Given the description of an element on the screen output the (x, y) to click on. 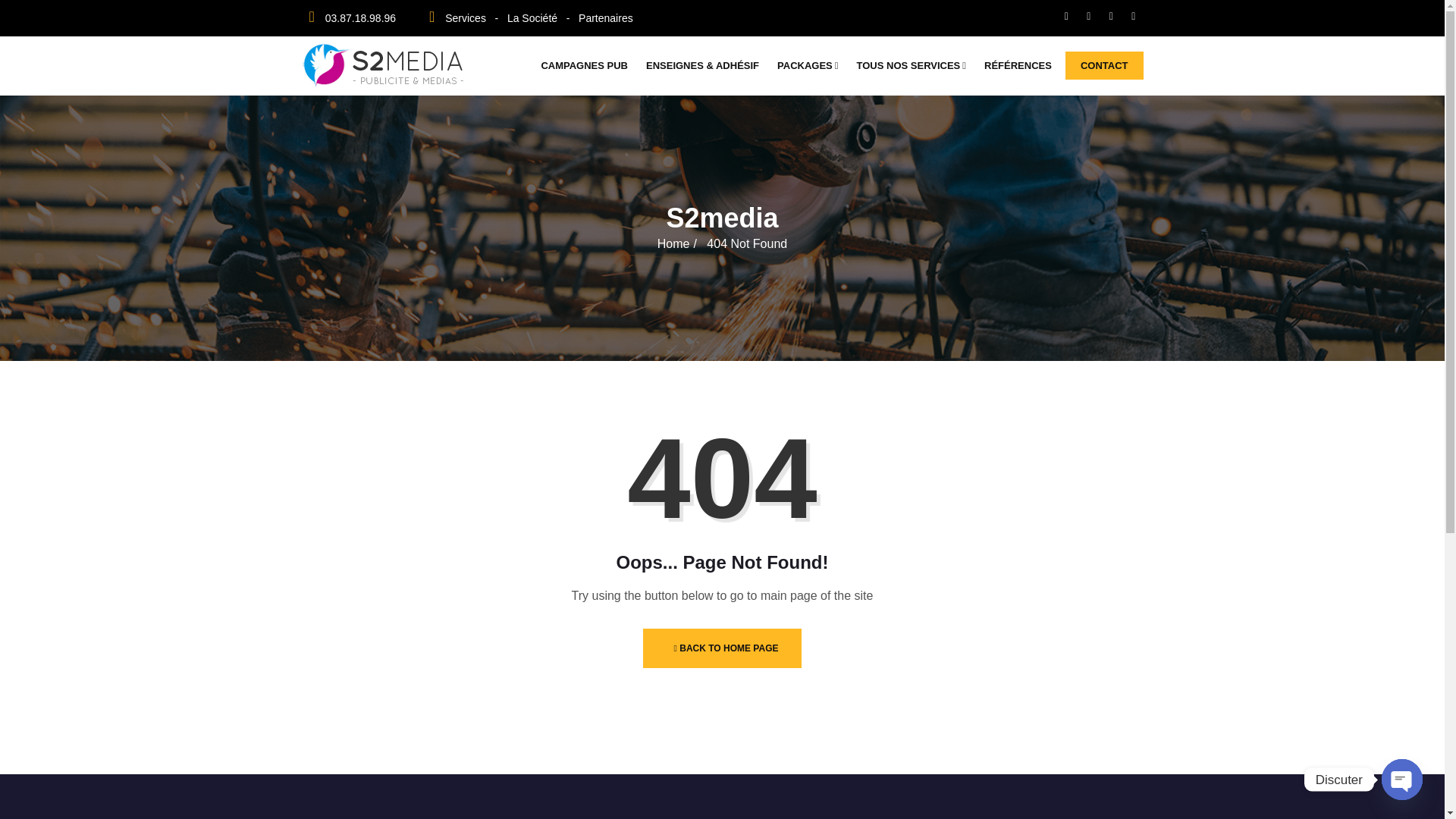
CAMPAGNES PUB (588, 65)
WhatsApp (1133, 15)
Partenaires (605, 18)
facebook (1066, 15)
Home (674, 243)
Services (465, 18)
PACKAGES (812, 65)
CONTACT (1104, 65)
Linkedin (1111, 15)
TOUS NOS SERVICES (915, 65)
